Given the description of an element on the screen output the (x, y) to click on. 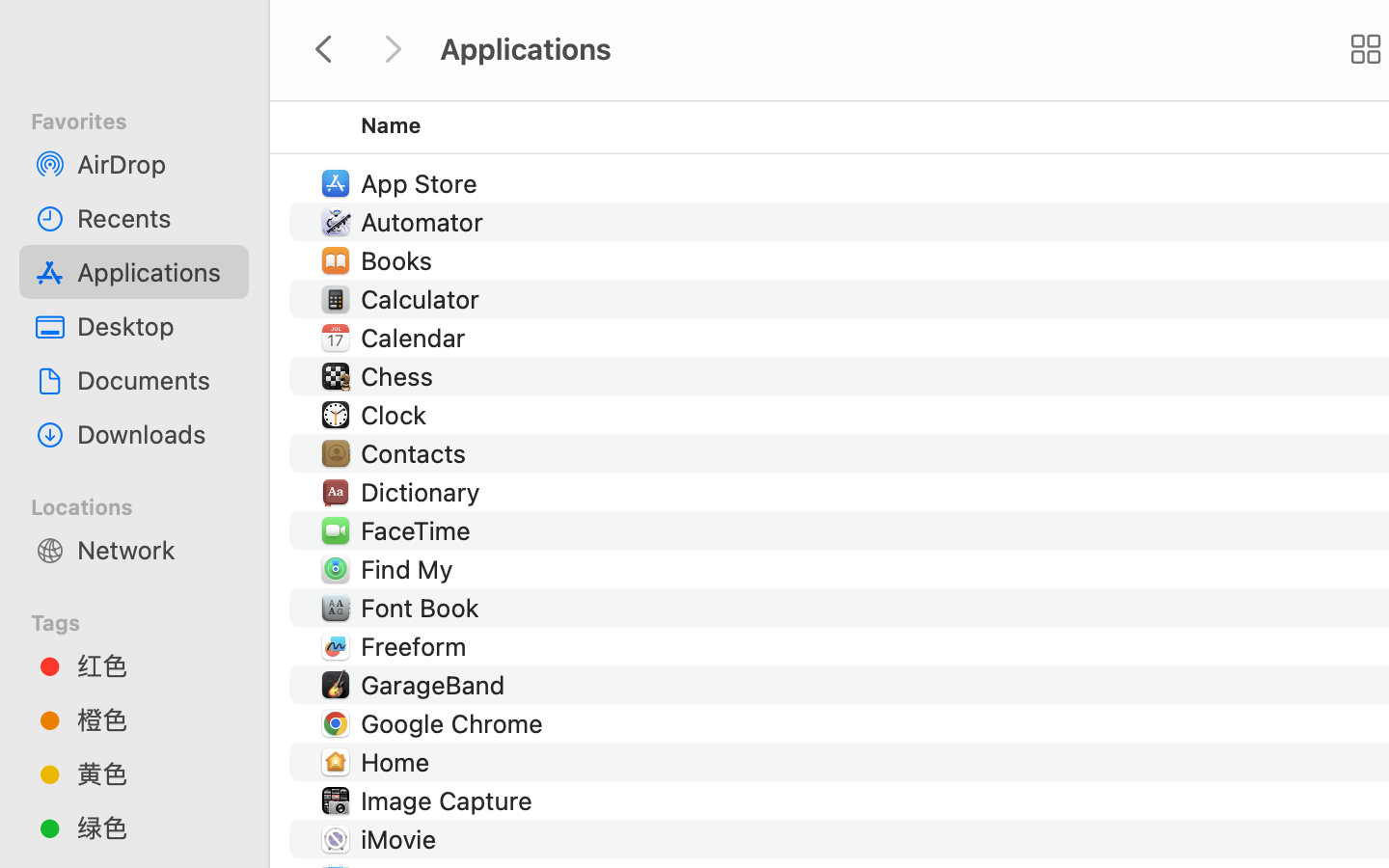
Font Book Element type: AXTextField (423, 607)
Network Element type: AXStaticText (155, 549)
Books Element type: AXTextField (400, 259)
Tags Element type: AXStaticText (145, 619)
Name Element type: AXStaticText (391, 124)
